Given the description of an element on the screen output the (x, y) to click on. 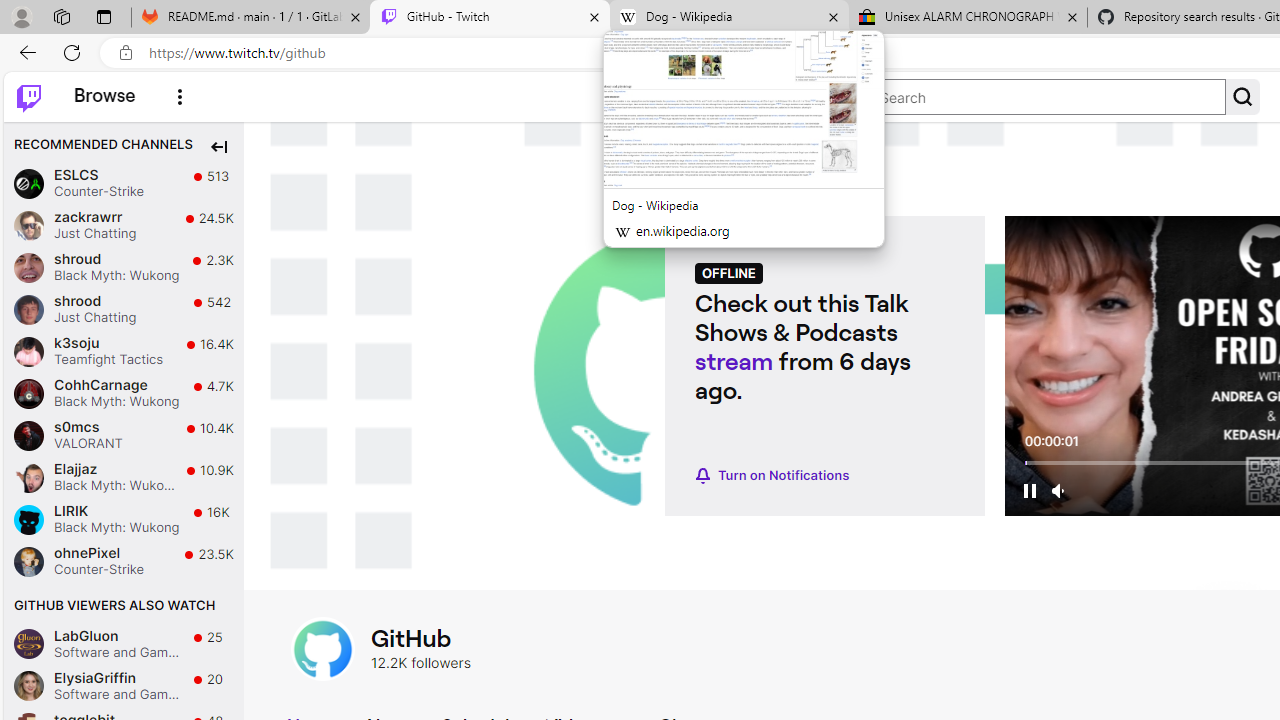
Browse (104, 96)
Elajjaz Elajjaz Black Myth: Wukong Live 10.9K viewers (123, 476)
shroud shroud Black Myth: Wukong Live 2.3K viewers (123, 267)
Elajjaz (28, 477)
zackrawrr (28, 225)
Class: ScSvg-sc-mx5axi-2 iAAiAK (28, 96)
Mute (m) (1059, 490)
k3soju (28, 351)
LIRIK (28, 518)
LIRIK LIRIK Black Myth: Wukong Live 16K viewers (123, 519)
CohhCarnage (28, 393)
ESLCS (28, 182)
